Given the description of an element on the screen output the (x, y) to click on. 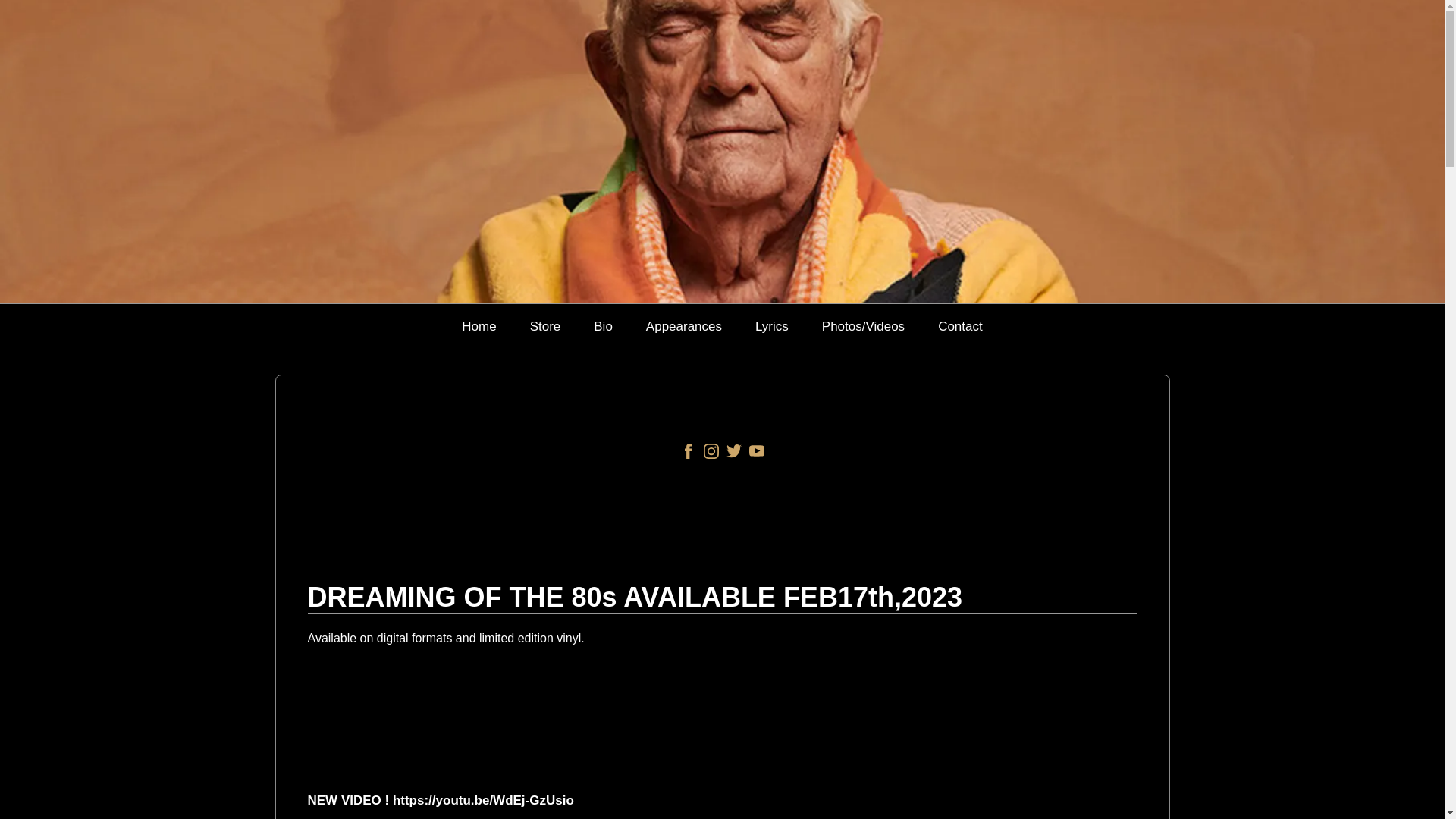
Contact (959, 326)
Lyrics (772, 326)
Store (544, 326)
Home (478, 326)
Appearances (684, 326)
Bio (603, 326)
